Given the description of an element on the screen output the (x, y) to click on. 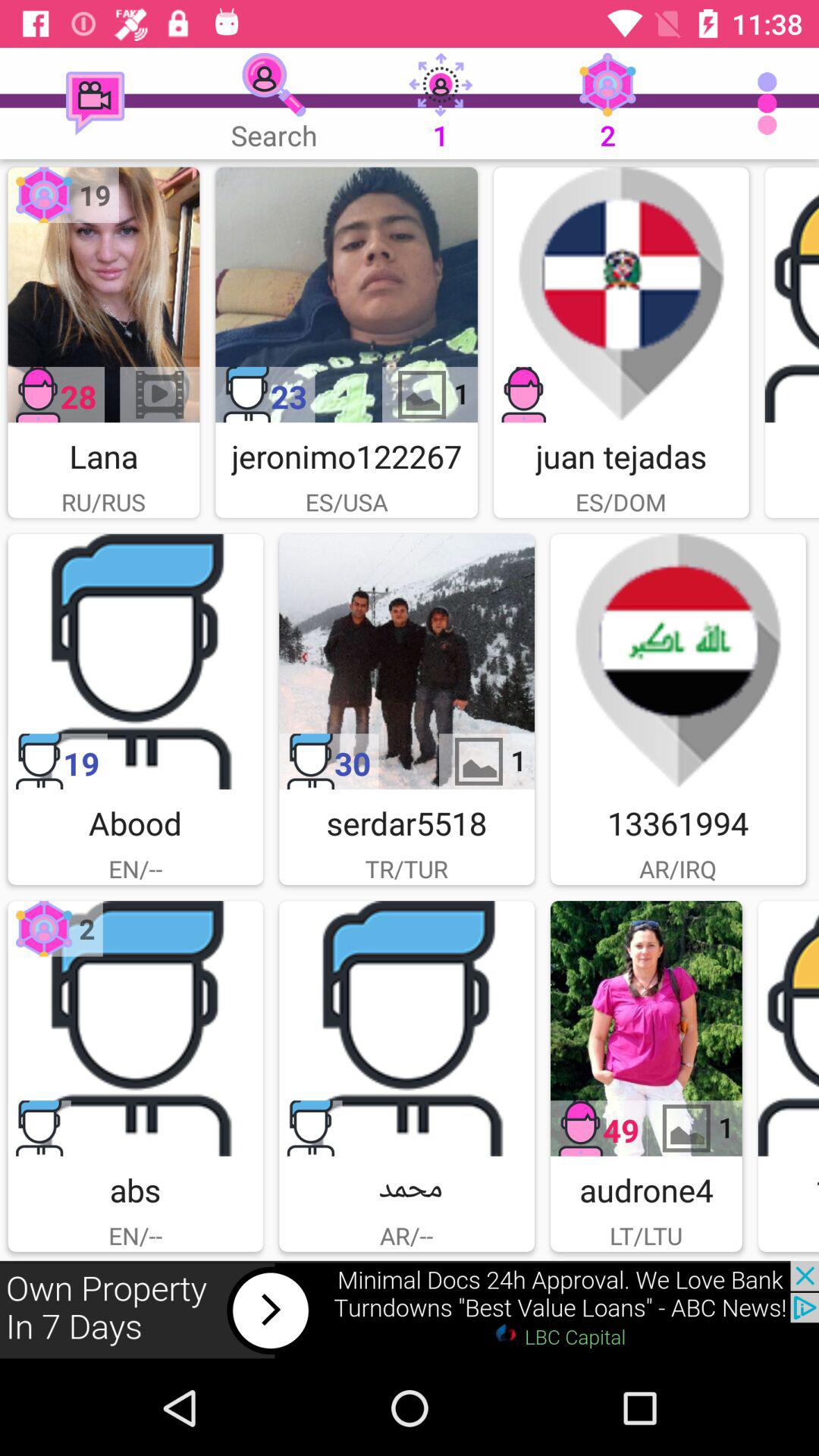
select picture (646, 1028)
